Given the description of an element on the screen output the (x, y) to click on. 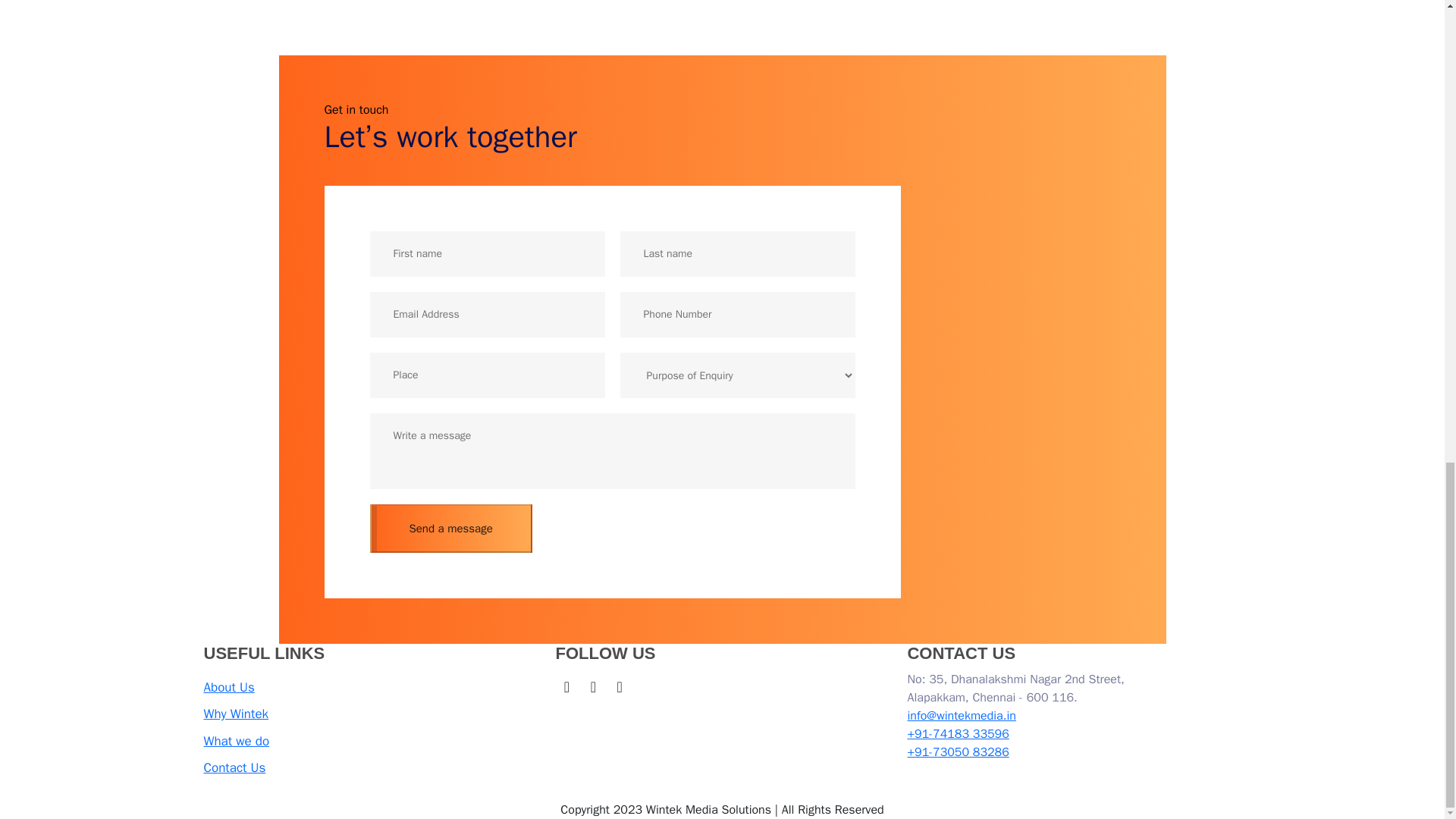
Contact Us (233, 768)
Why Wintek (235, 713)
About Us (228, 687)
Send a message (150, 528)
What we do (236, 741)
